Given the description of an element on the screen output the (x, y) to click on. 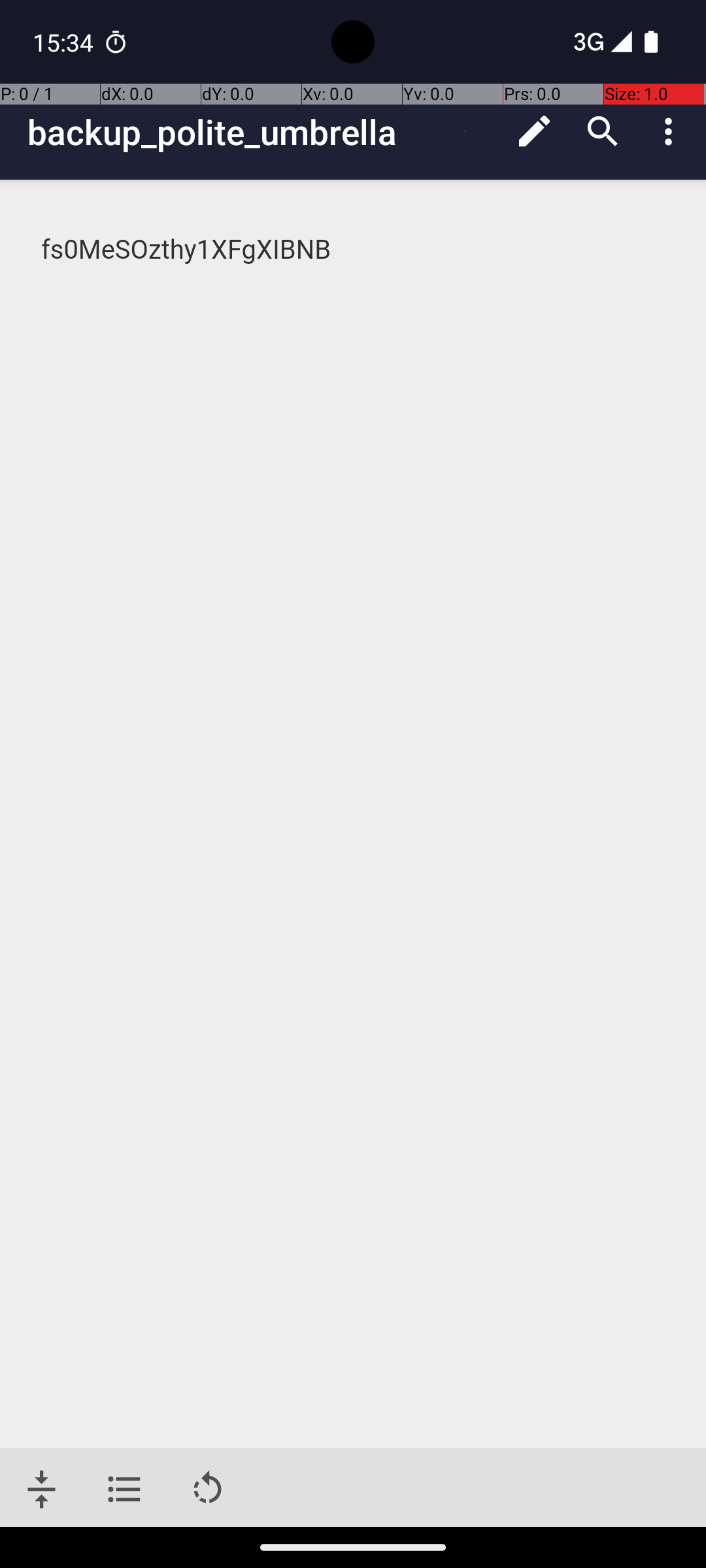
backup_polite_umbrella Element type: android.widget.TextView (263, 131)
fs0MeSOzthy1XFgXIBNB Element type: android.widget.TextView (354, 249)
